Given the description of an element on the screen output the (x, y) to click on. 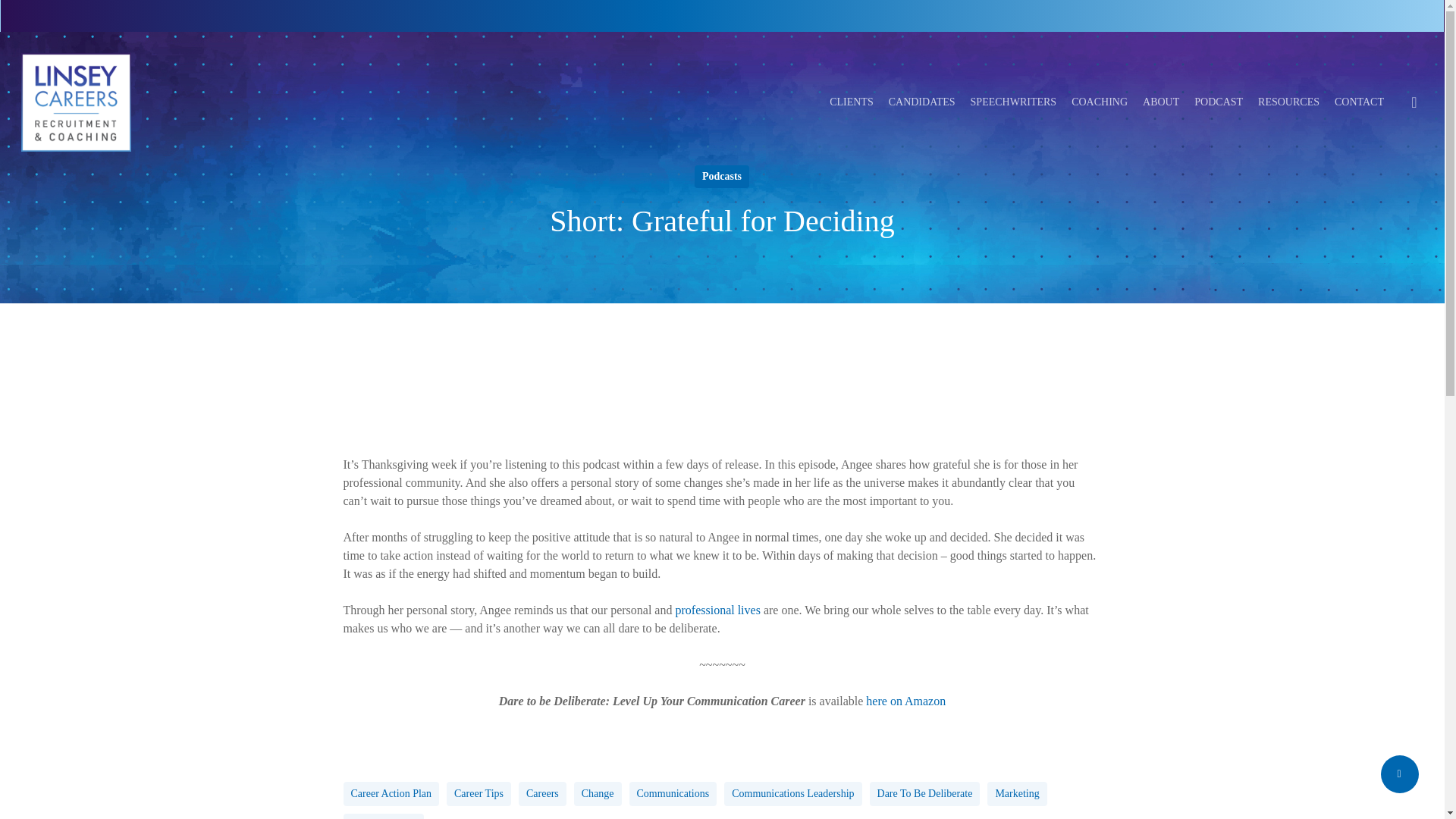
CONTACT (1359, 102)
Career Action Plan (390, 793)
Podcasts (721, 176)
Dare To Be Deliberate (924, 793)
Change (597, 793)
CLIENTS (851, 102)
Careers (542, 793)
Communications (672, 793)
ABOUT (1160, 102)
Transformation (382, 816)
Marketing (1016, 793)
Communications Leadership (792, 793)
RESOURCES (1288, 102)
Career Tips (478, 793)
CANDIDATES (921, 102)
